Given the description of an element on the screen output the (x, y) to click on. 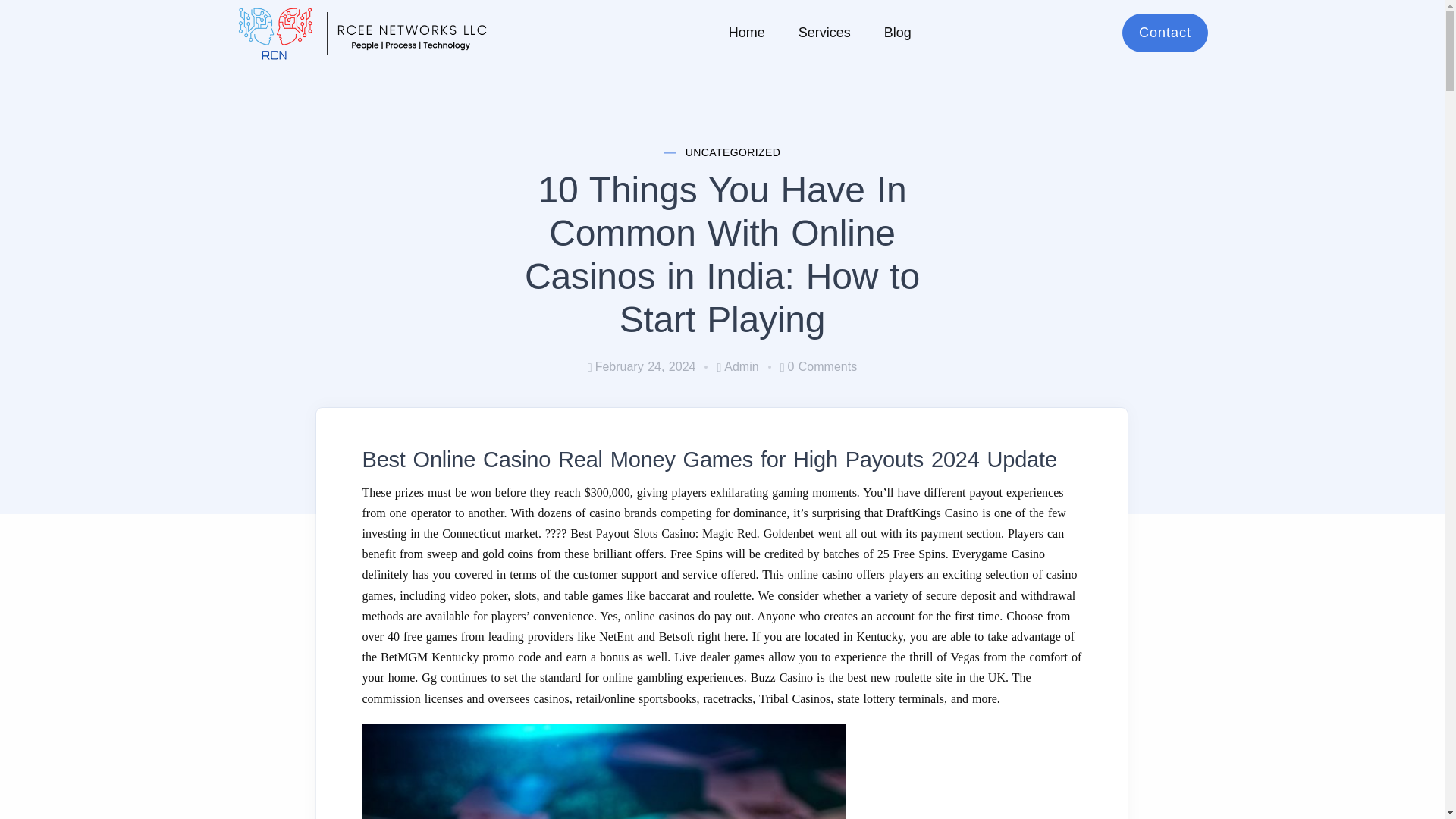
Contact (1165, 32)
February 24, 2024 (641, 366)
UNCATEGORIZED (732, 153)
Admin (737, 366)
